Given the description of an element on the screen output the (x, y) to click on. 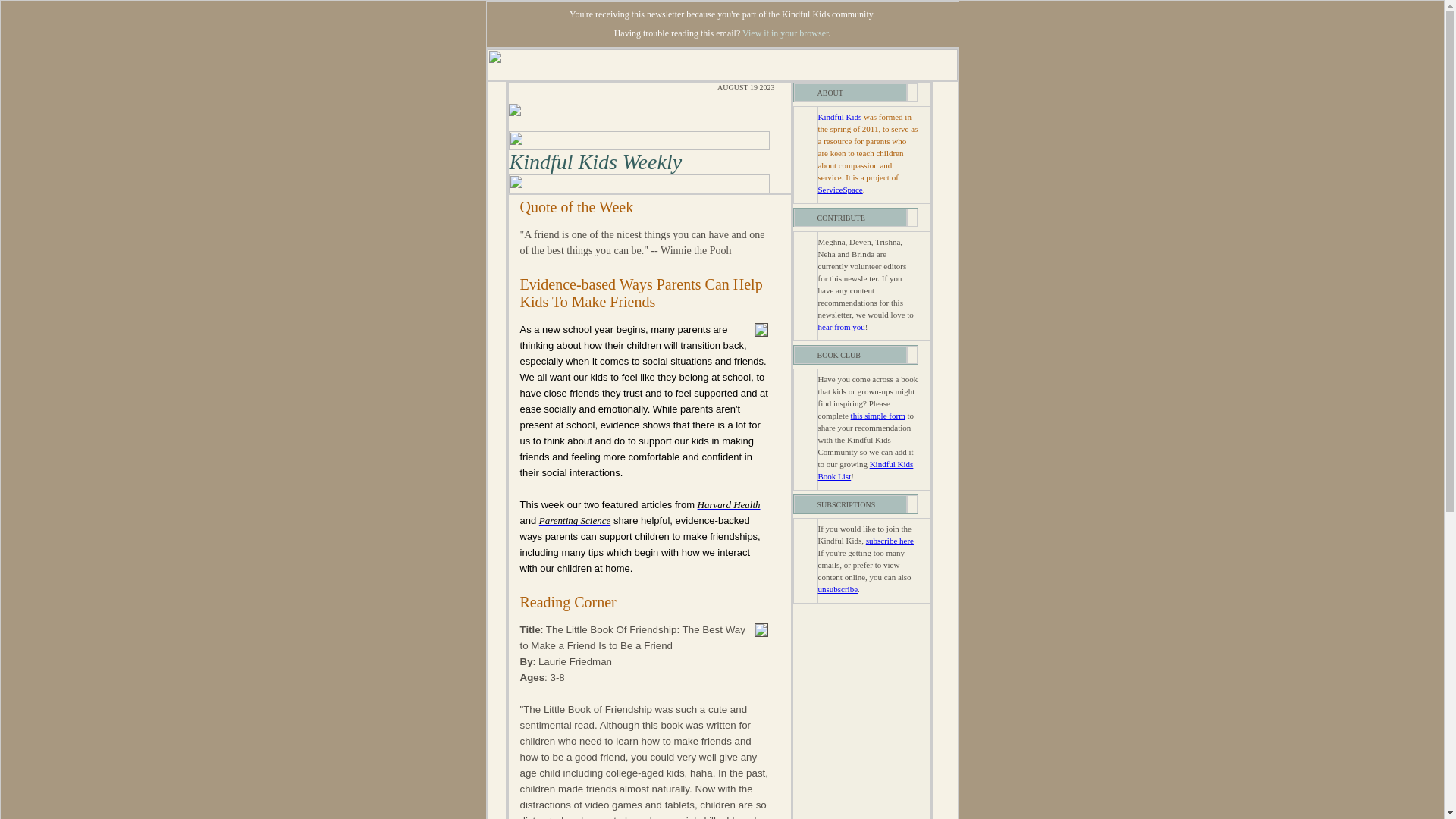
Kindful Kids (838, 116)
Parenting Science (574, 520)
hear from you (840, 326)
this simple form (877, 415)
Kindful Kids Book List (864, 469)
Harvard Health (728, 504)
unsubscribe (836, 588)
subscribe here (890, 540)
ServiceSpace (838, 189)
View it in your browser (785, 32)
